Given the description of an element on the screen output the (x, y) to click on. 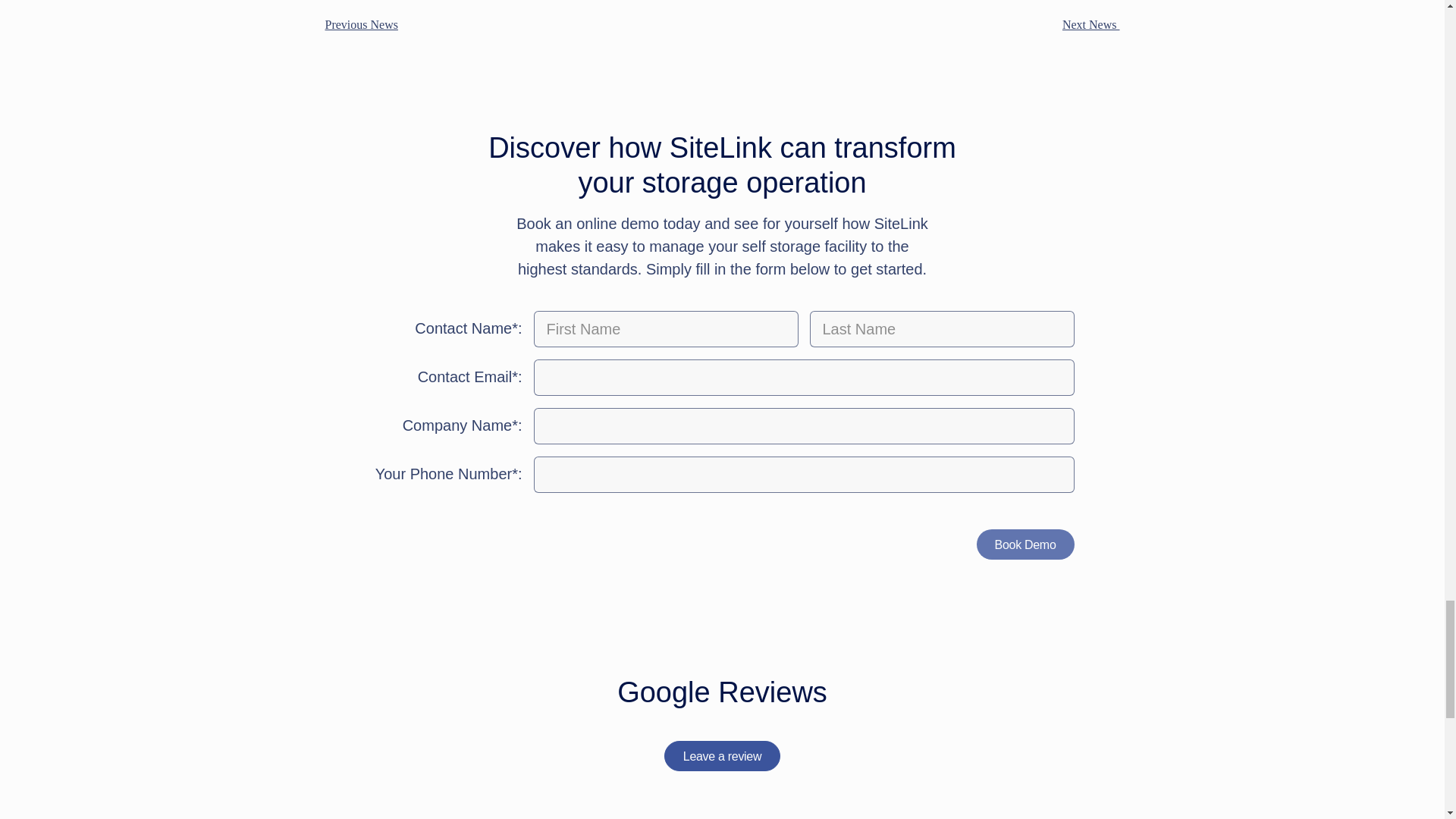
Functionality On-Premise Self-Storage Management Software (1101, 24)
Book Demo (1025, 544)
